Given the description of an element on the screen output the (x, y) to click on. 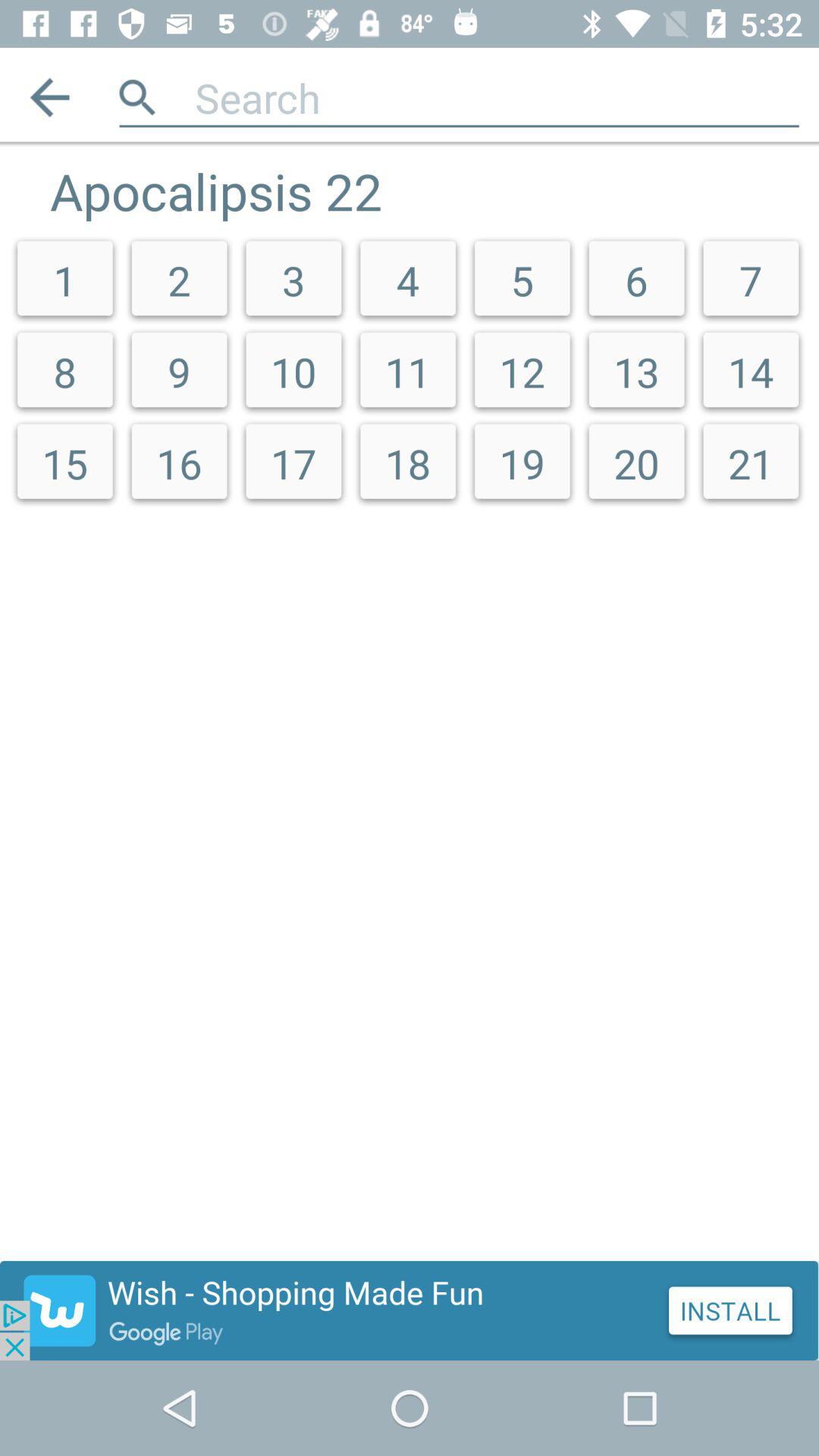
enter text here (497, 97)
